Given the description of an element on the screen output the (x, y) to click on. 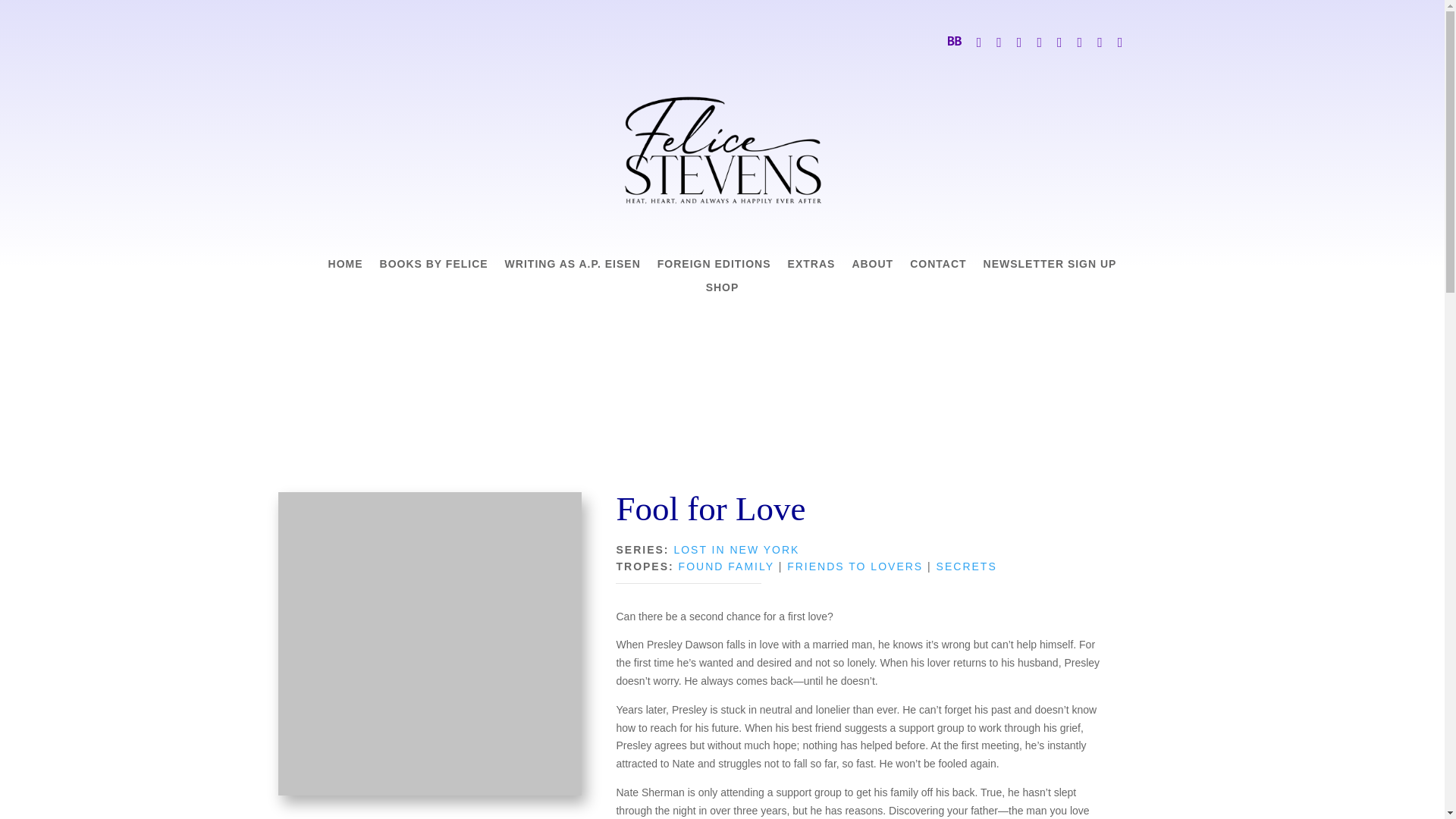
Felice Stevens (722, 150)
BOOKS BY FELICE (433, 267)
NEWSLETTER SIGN UP (1050, 267)
ABOUT (872, 267)
Fool For Love (429, 643)
LOST IN NEW YORK (735, 549)
FOUND FAMILY (726, 566)
FOREIGN EDITIONS (714, 267)
HOME (345, 267)
EXTRAS (811, 267)
